Given the description of an element on the screen output the (x, y) to click on. 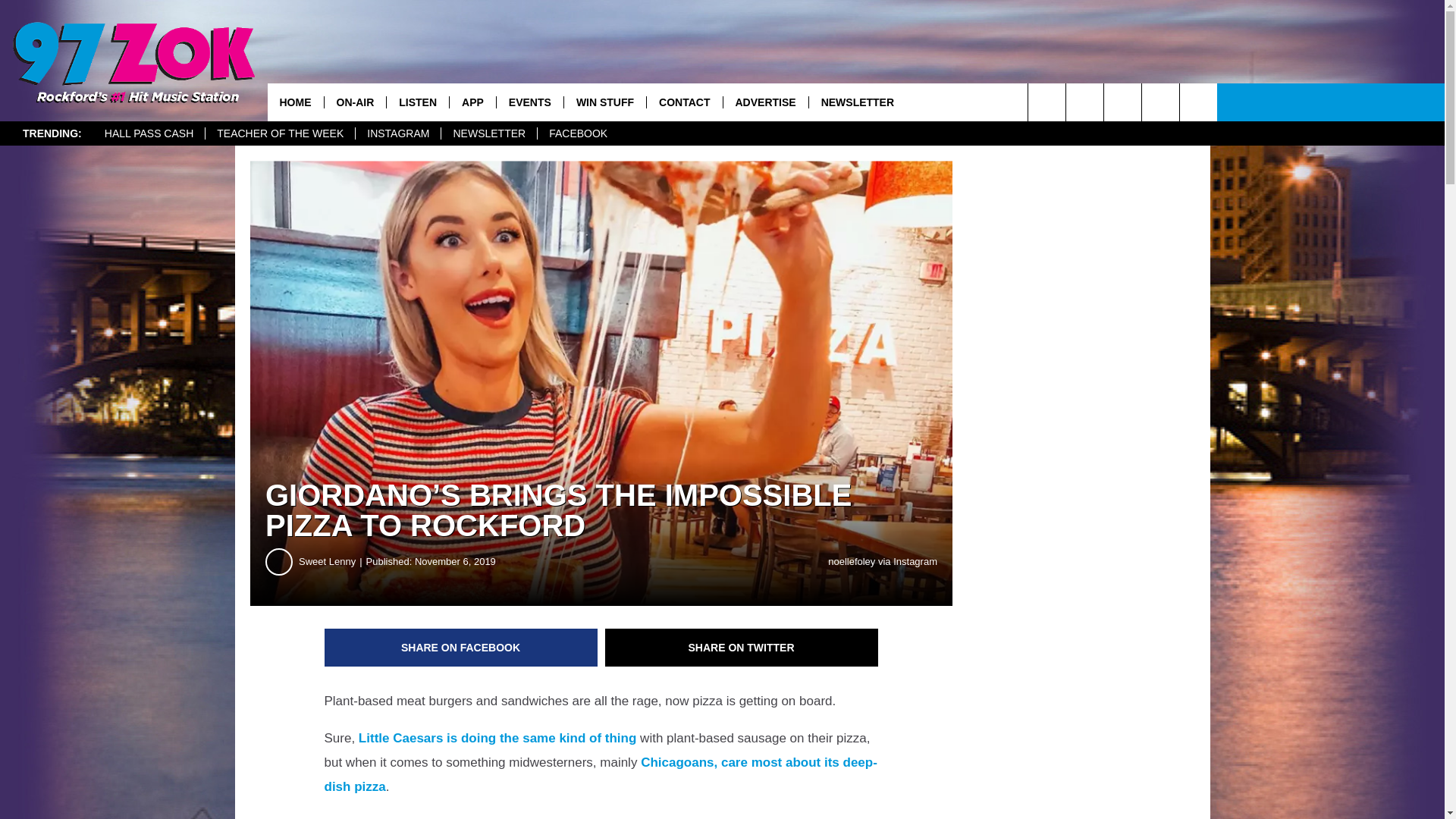
Share on Facebook (460, 647)
EVENTS (529, 102)
INSTAGRAM (398, 133)
CONTACT (684, 102)
FACEBOOK (577, 133)
NEWSLETTER (489, 133)
TRENDING: (52, 133)
LISTEN (416, 102)
ADVERTISE (765, 102)
HALL PASS CASH (149, 133)
